Given the description of an element on the screen output the (x, y) to click on. 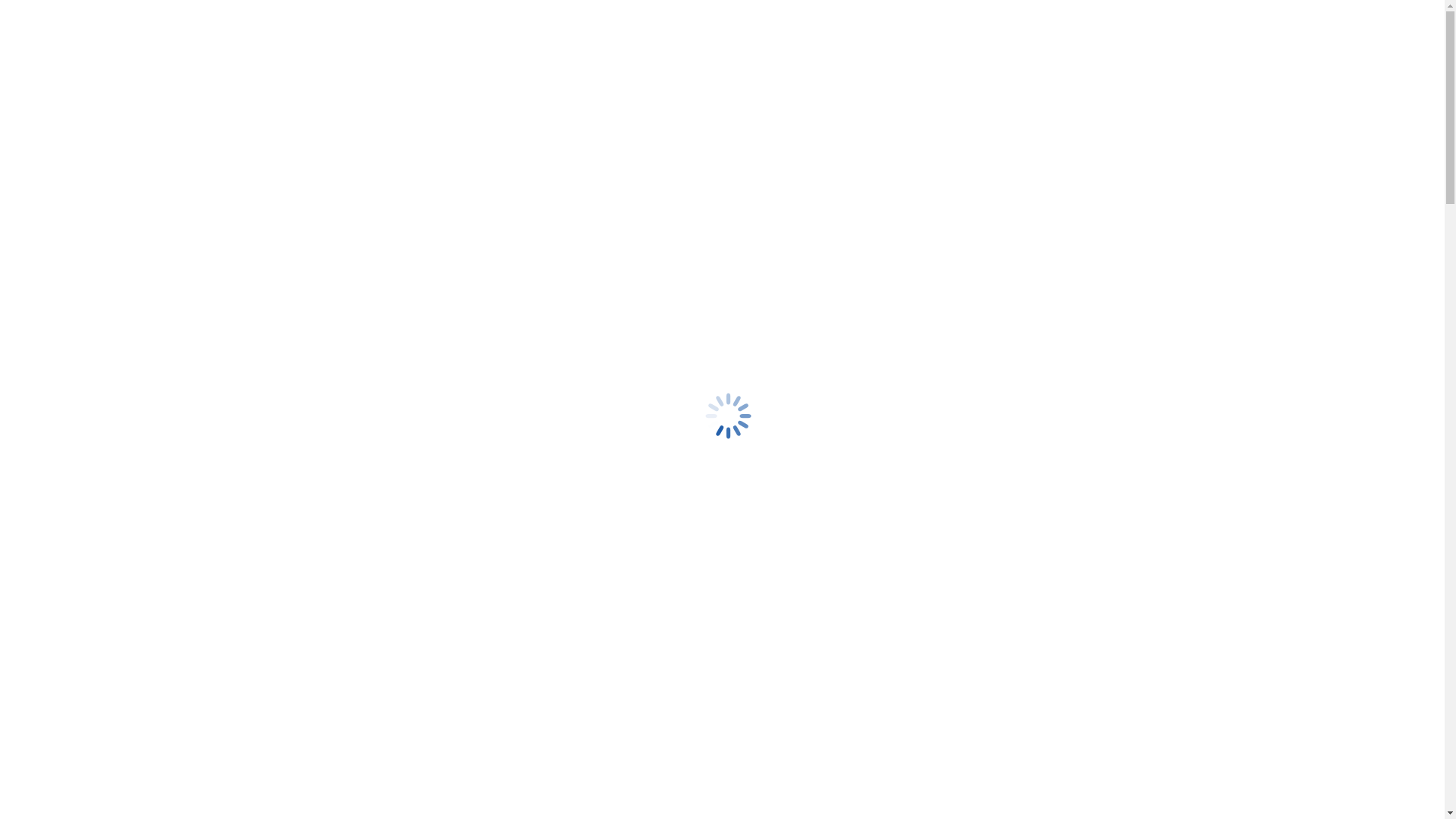
Go! Element type: text (20, 413)
TOP Element type: text (47, 439)
Search form Element type: hover (73, 397)
Home Element type: text (50, 784)
TOP Element type: text (47, 83)
